Given the description of an element on the screen output the (x, y) to click on. 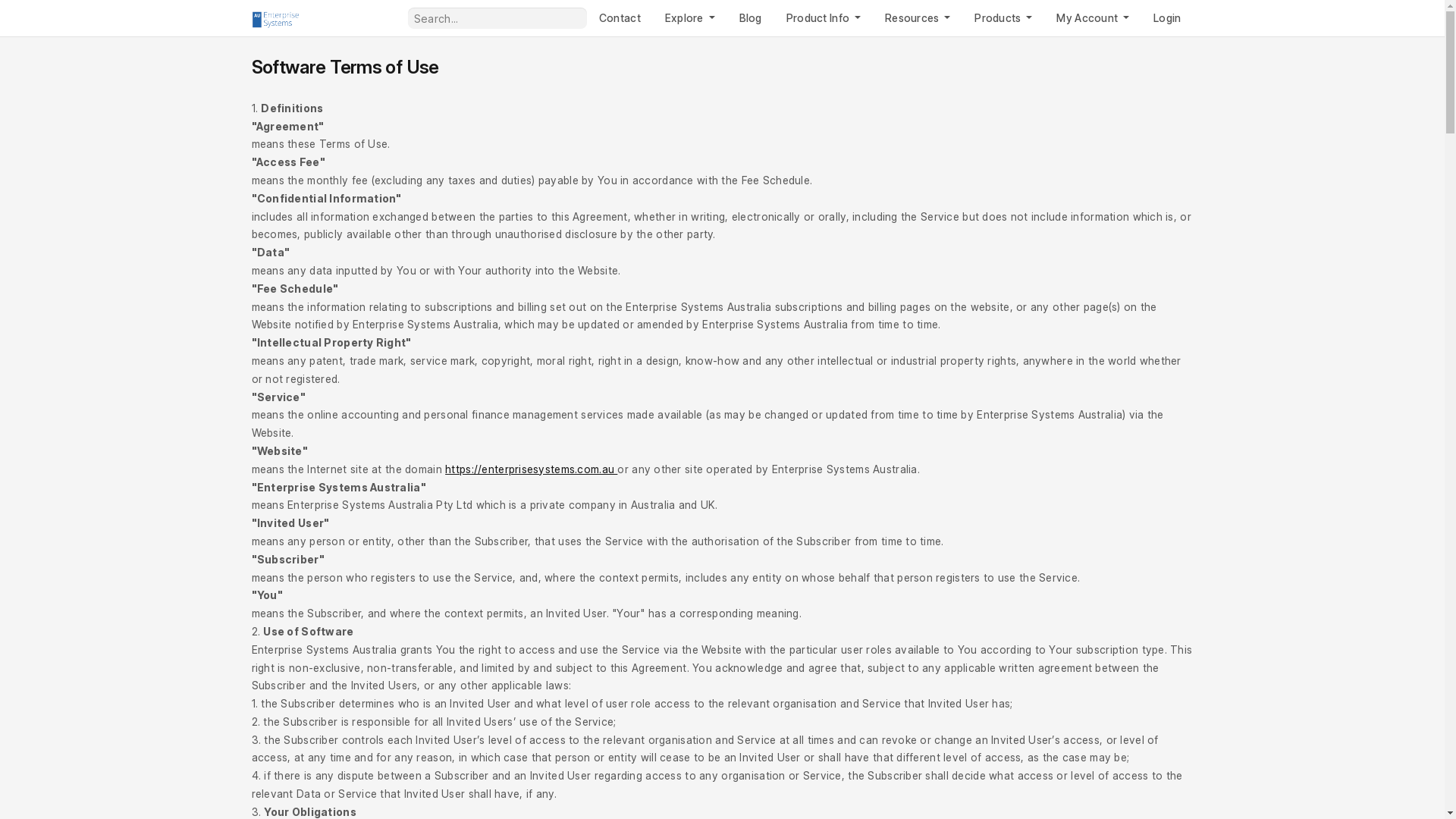
https://enterprisesystems.com.au  Element type: text (531, 468)
Login Element type: text (1166, 17)
Products Element type: text (1003, 17)
Blog Element type: text (750, 17)
Resources Element type: text (917, 17)
Product Info Element type: text (823, 17)
My Account Element type: text (1092, 17)
Explore Element type: text (689, 17)
Contact Element type: text (619, 17)
